Given the description of an element on the screen output the (x, y) to click on. 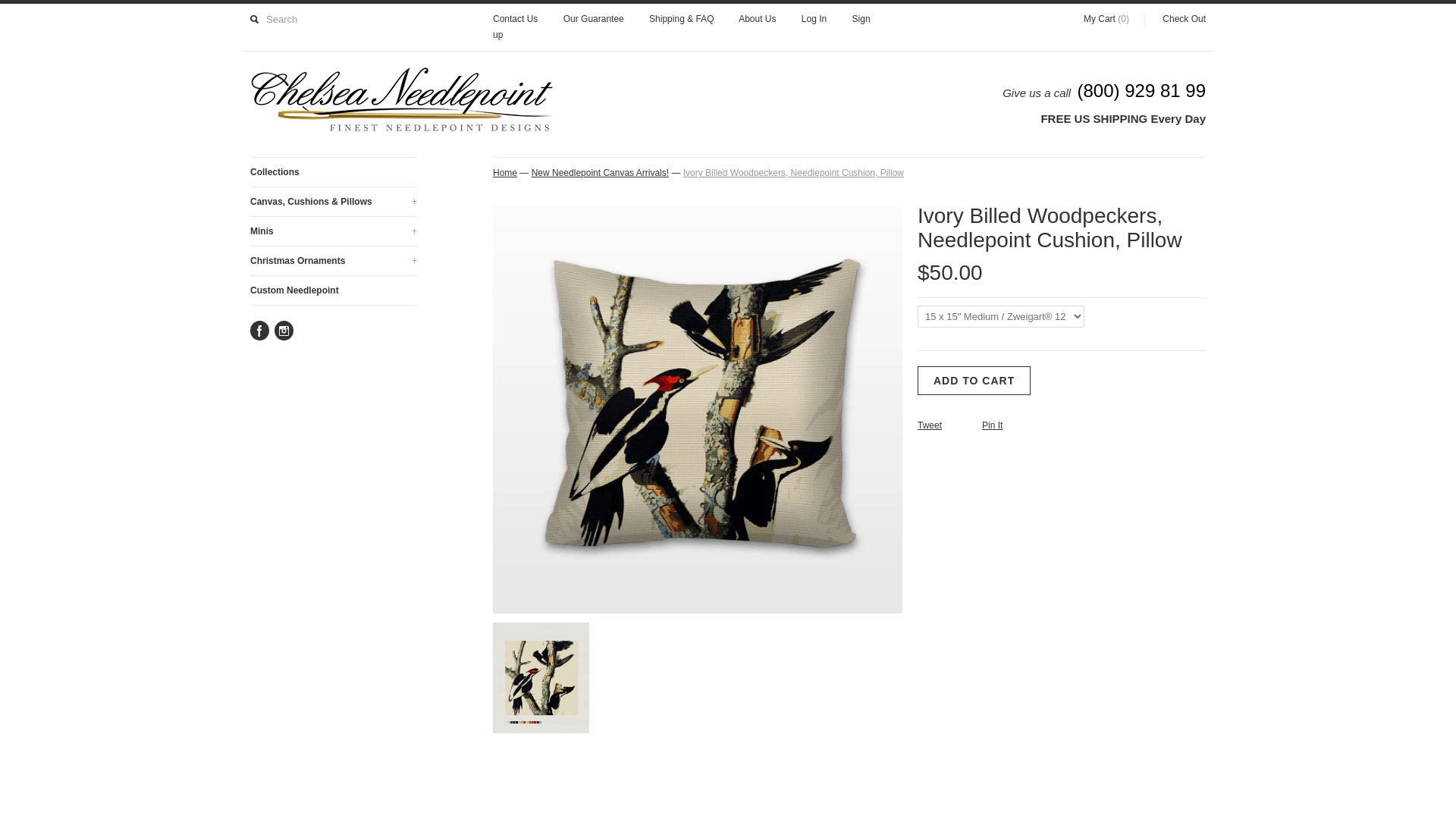
Check Out (1176, 19)
Collections (333, 172)
Our Guarantee (593, 19)
Contact Us (515, 19)
Log In (814, 19)
Add To Cart (973, 380)
About Us (757, 19)
Sign up (681, 26)
